Given the description of an element on the screen output the (x, y) to click on. 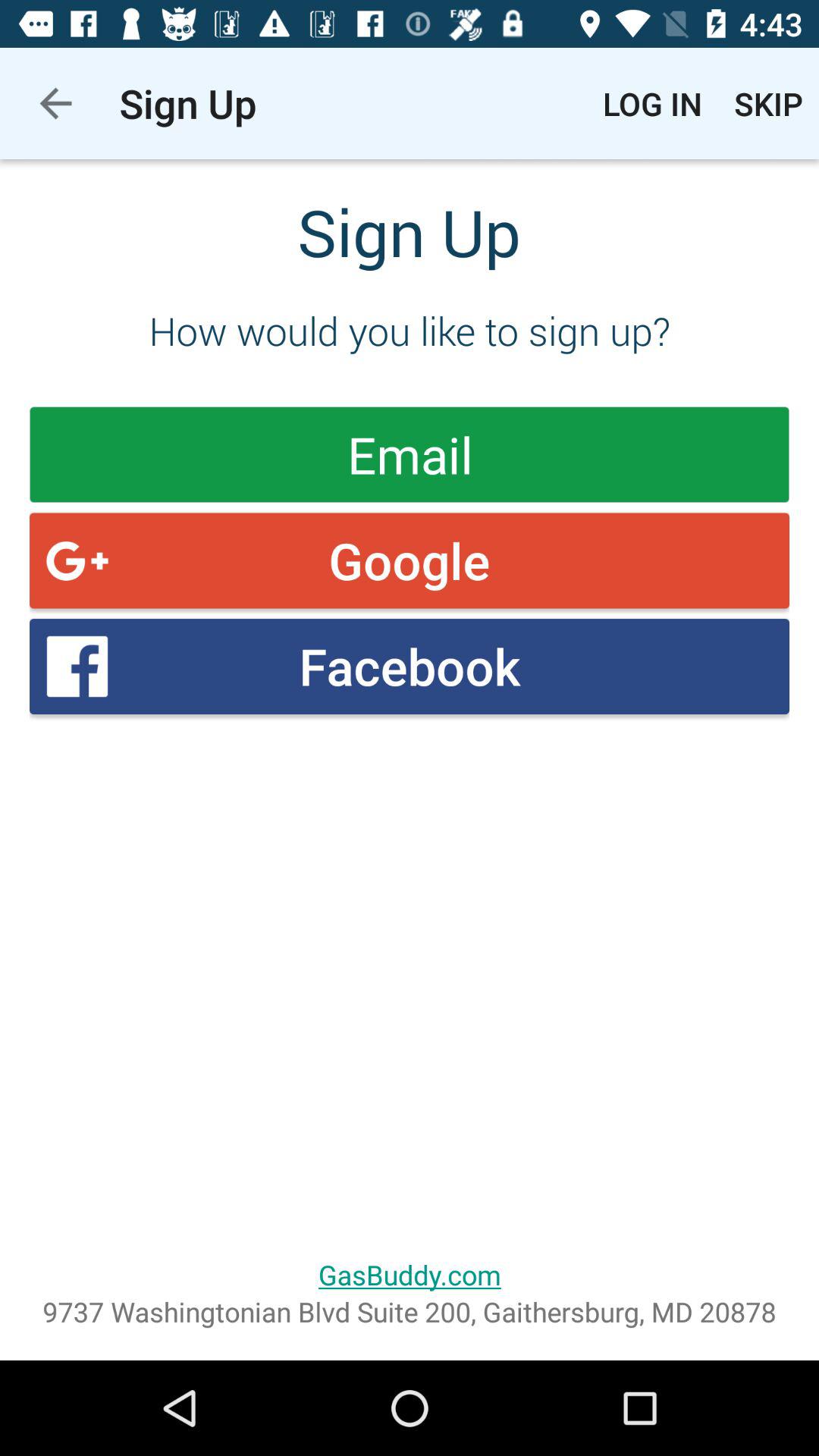
click the item next to the sign up (55, 103)
